Given the description of an element on the screen output the (x, y) to click on. 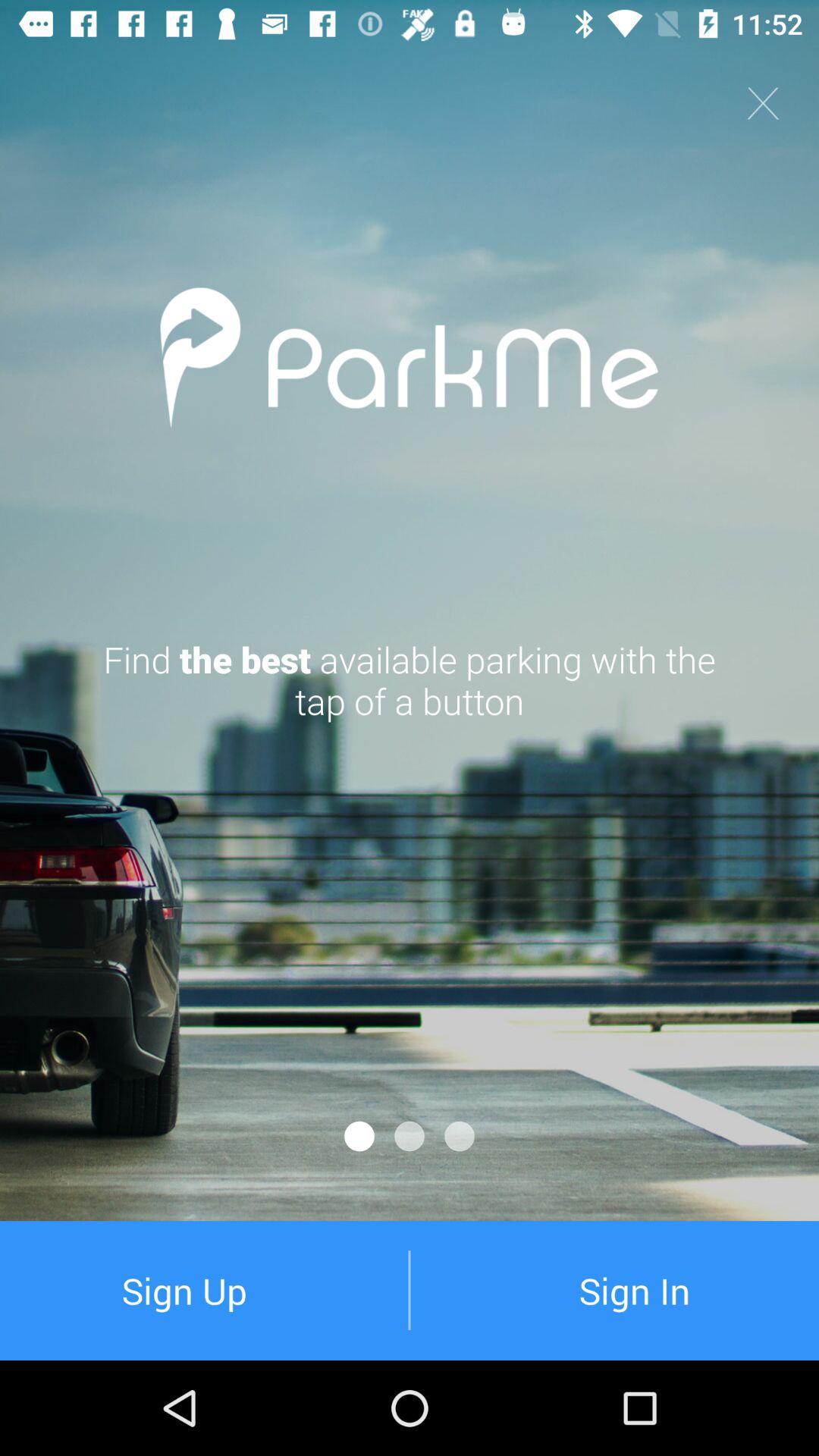
close (763, 103)
